Given the description of an element on the screen output the (x, y) to click on. 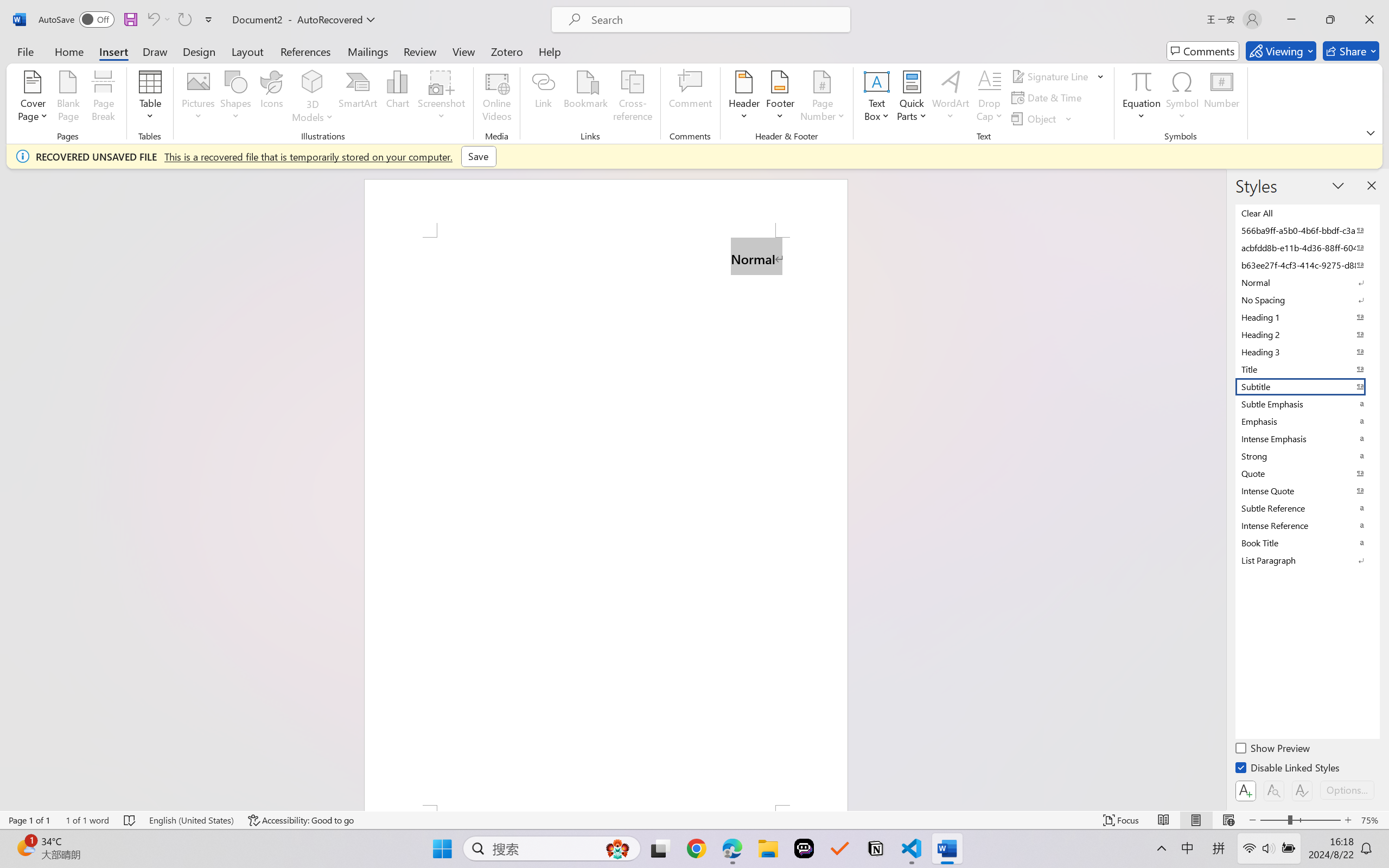
WordArt (950, 97)
Subtitle (1306, 386)
Intense Reference (1306, 525)
Class: NetUIButton (1301, 790)
Number... (1221, 97)
566ba9ff-a5b0-4b6f-bbdf-c3ab41993fc2 (1306, 230)
Mode (1280, 50)
Date & Time... (1048, 97)
Link (543, 97)
